Given the description of an element on the screen output the (x, y) to click on. 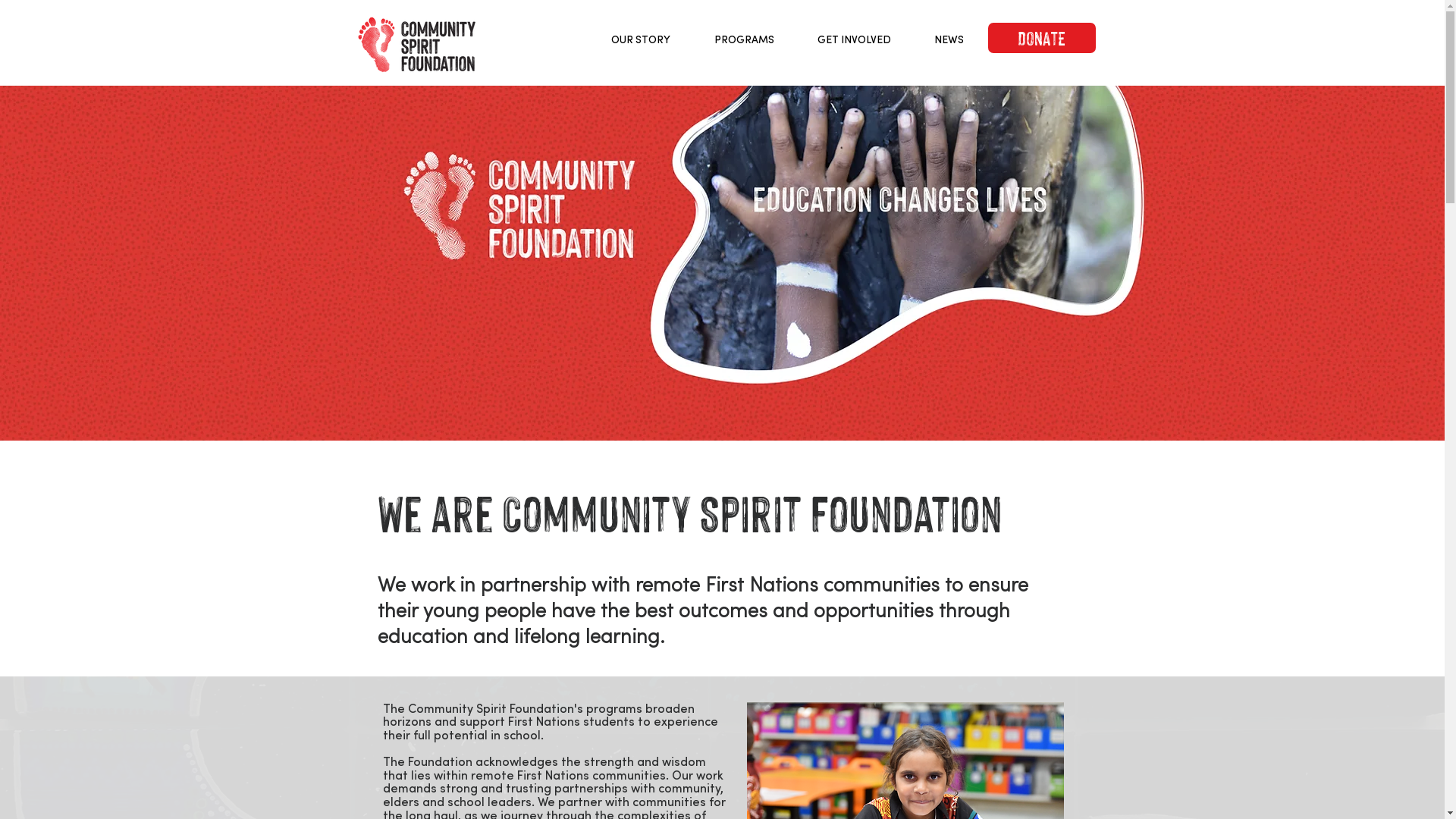
PROGRAMS Element type: text (743, 39)
TWIPLA (Visitor Analytics) Element type: hover (199, 206)
GET INVOLVED Element type: text (854, 39)
DONATE Element type: text (1041, 37)
NEWS Element type: text (949, 39)
OUR STORY Element type: text (639, 39)
